Given the description of an element on the screen output the (x, y) to click on. 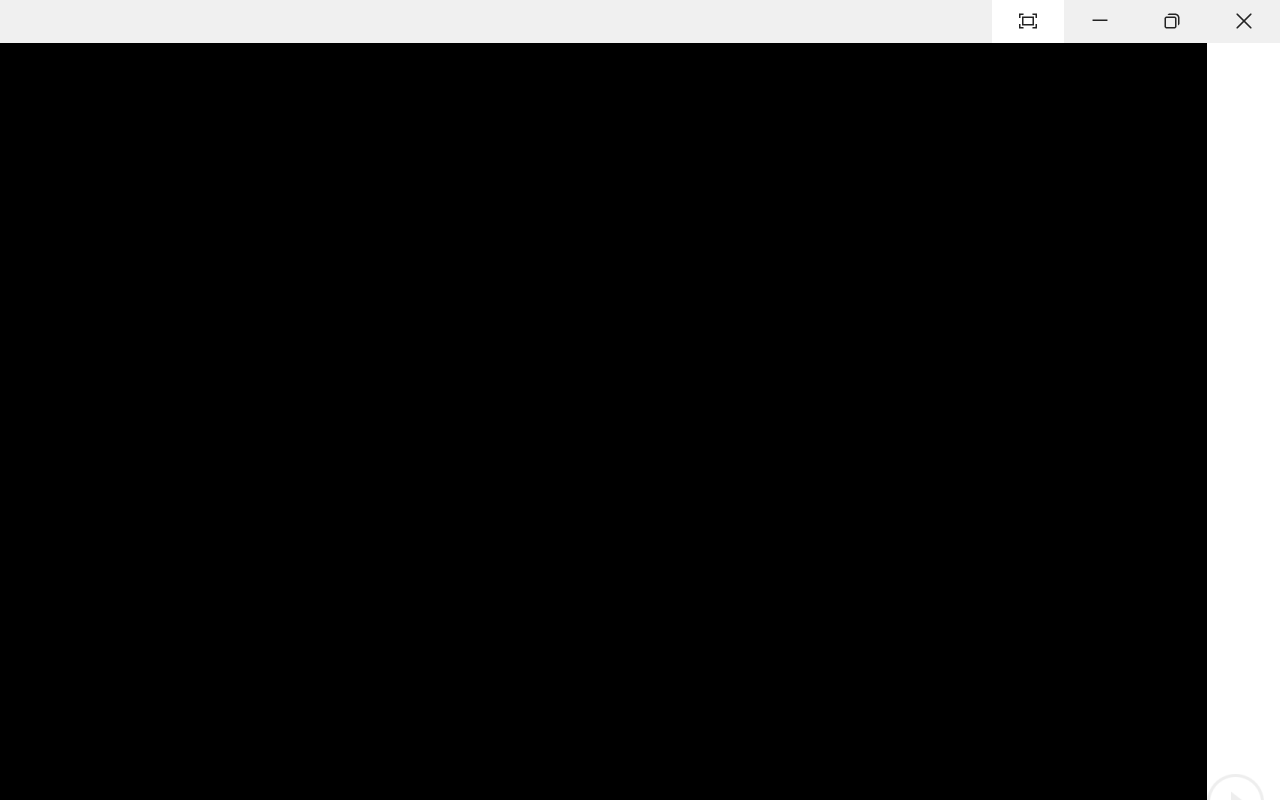
2312.03032v2.pdf (962, 496)
Rotate (351, 218)
2401.17399v1.pdf (1077, 52)
Bring Forward (62, 151)
Line up (1267, 43)
symbol_LLM.pdf (846, 200)
(CVPR24)Matching Anything by Segmenting Anything.pdf (962, 360)
Align (346, 141)
2311.03658v2.pdf (846, 496)
